Given the description of an element on the screen output the (x, y) to click on. 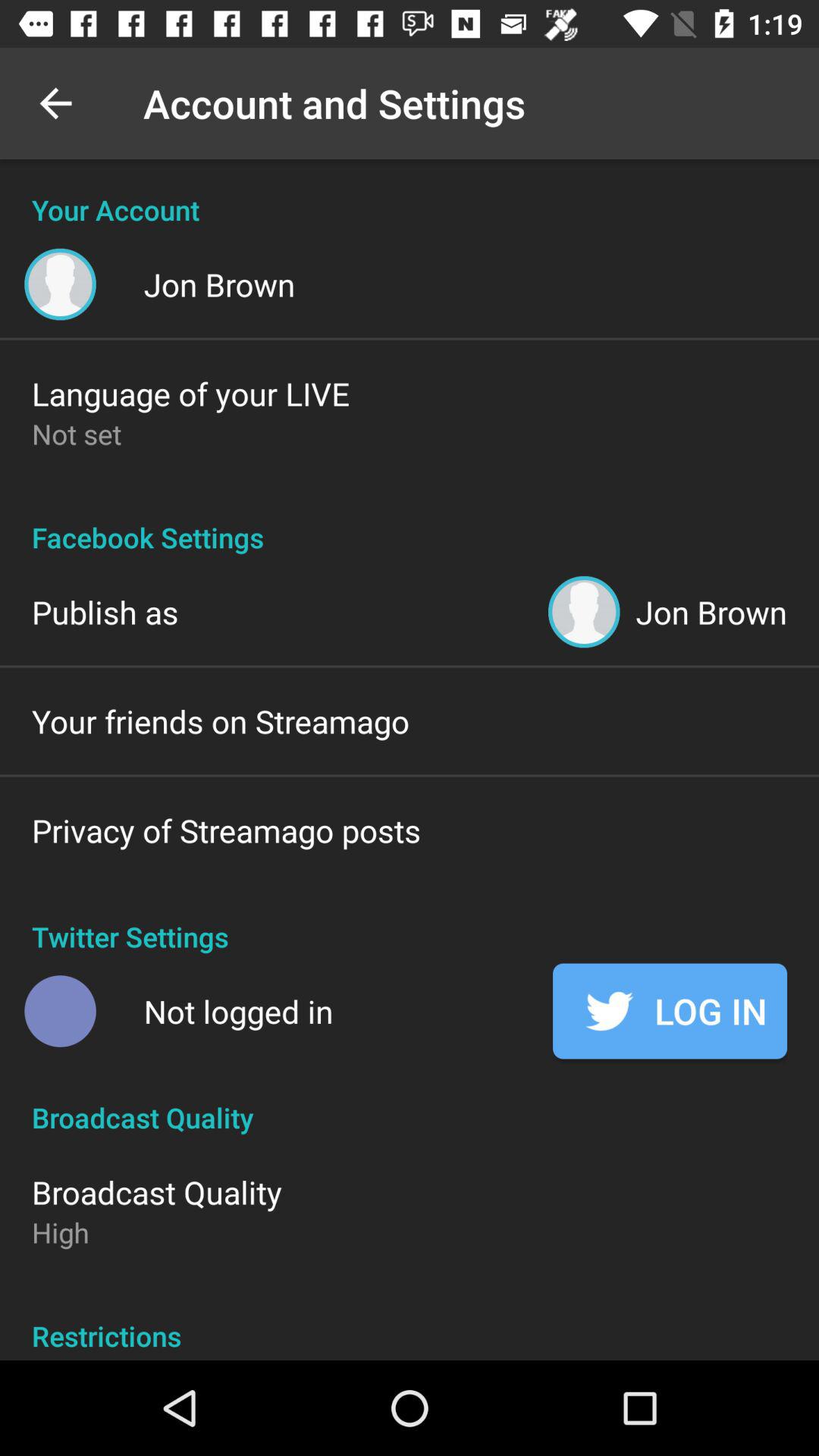
flip to the high (60, 1232)
